Given the description of an element on the screen output the (x, y) to click on. 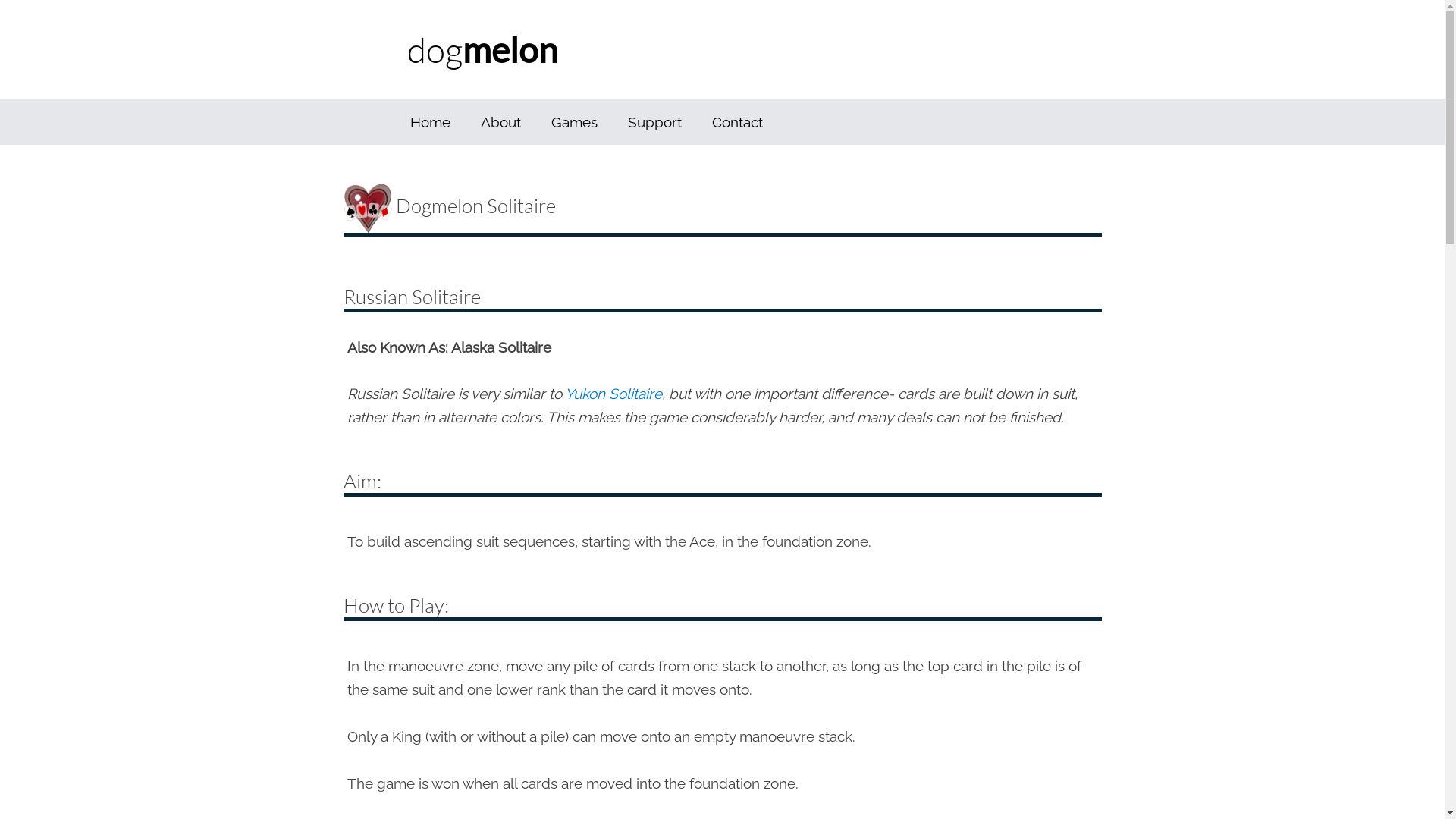
About Element type: text (500, 121)
Contact Element type: text (736, 121)
Home Element type: text (429, 121)
Support Element type: text (654, 121)
Yukon Solitaire Element type: text (612, 393)
Games Element type: text (573, 121)
